Given the description of an element on the screen output the (x, y) to click on. 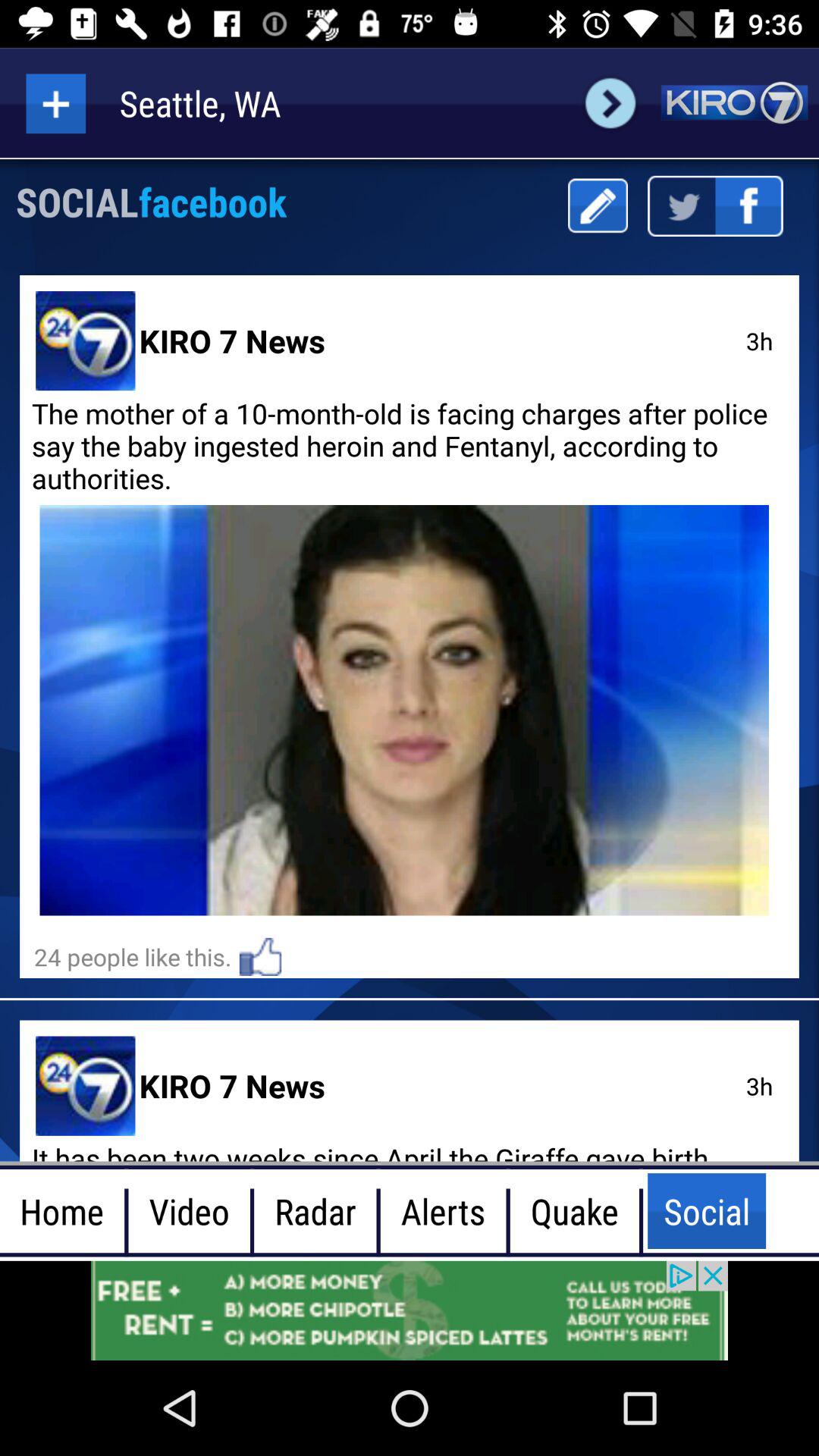
advertisement (409, 1310)
